Given the description of an element on the screen output the (x, y) to click on. 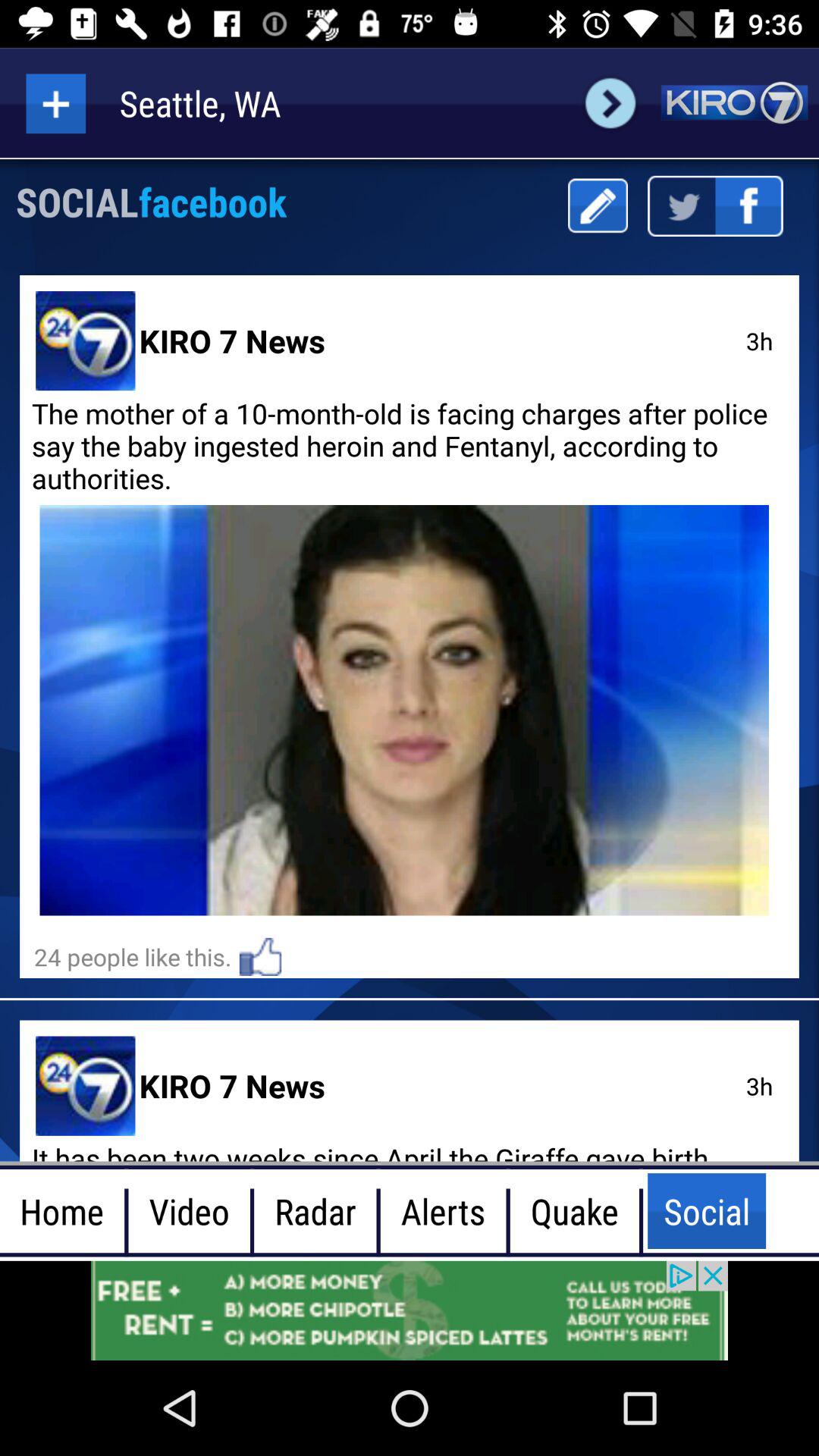
advertisement (409, 1310)
